Given the description of an element on the screen output the (x, y) to click on. 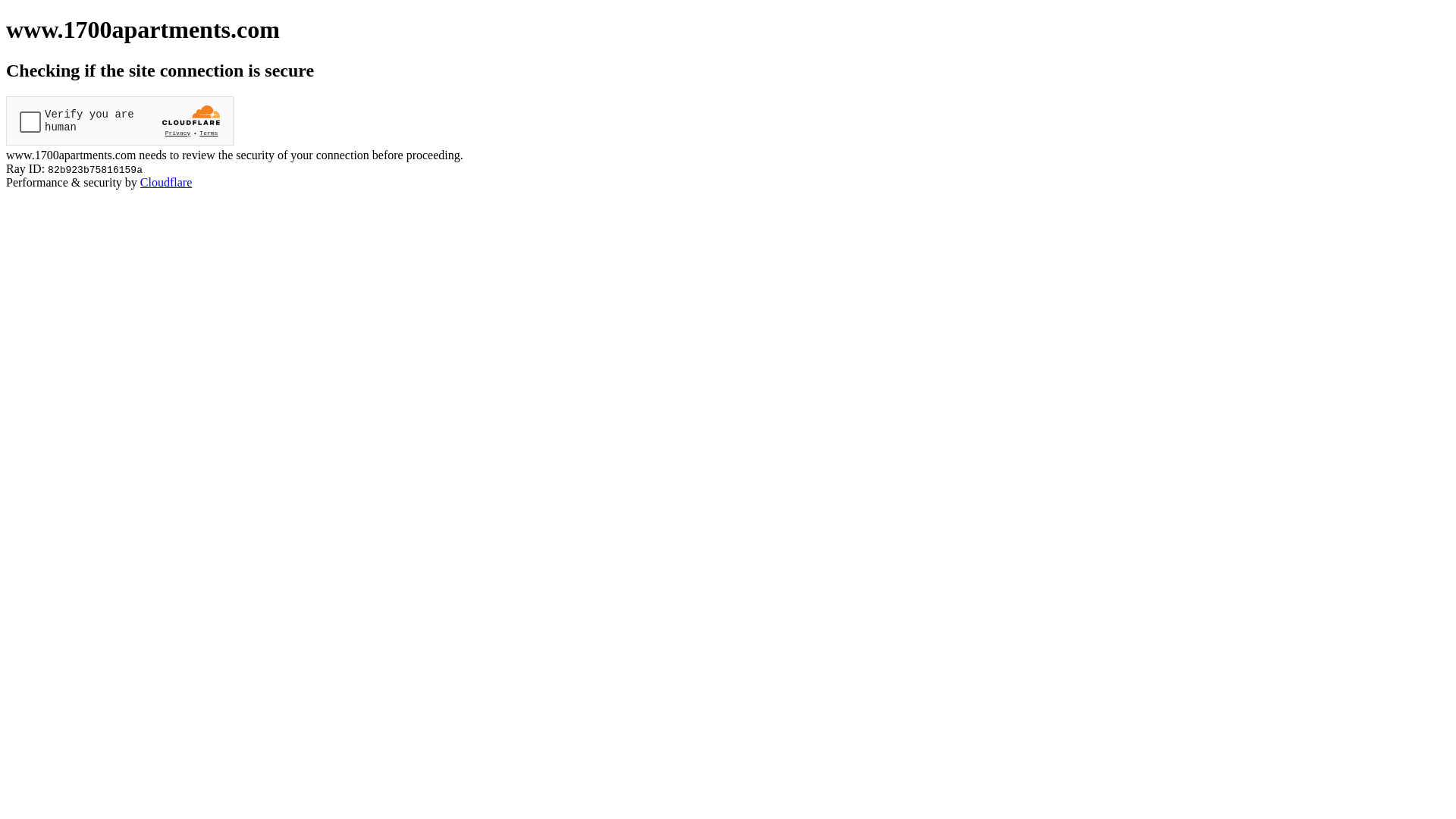
Widget containing a Cloudflare security challenge Element type: hover (119, 120)
Cloudflare Element type: text (165, 181)
